Given the description of an element on the screen output the (x, y) to click on. 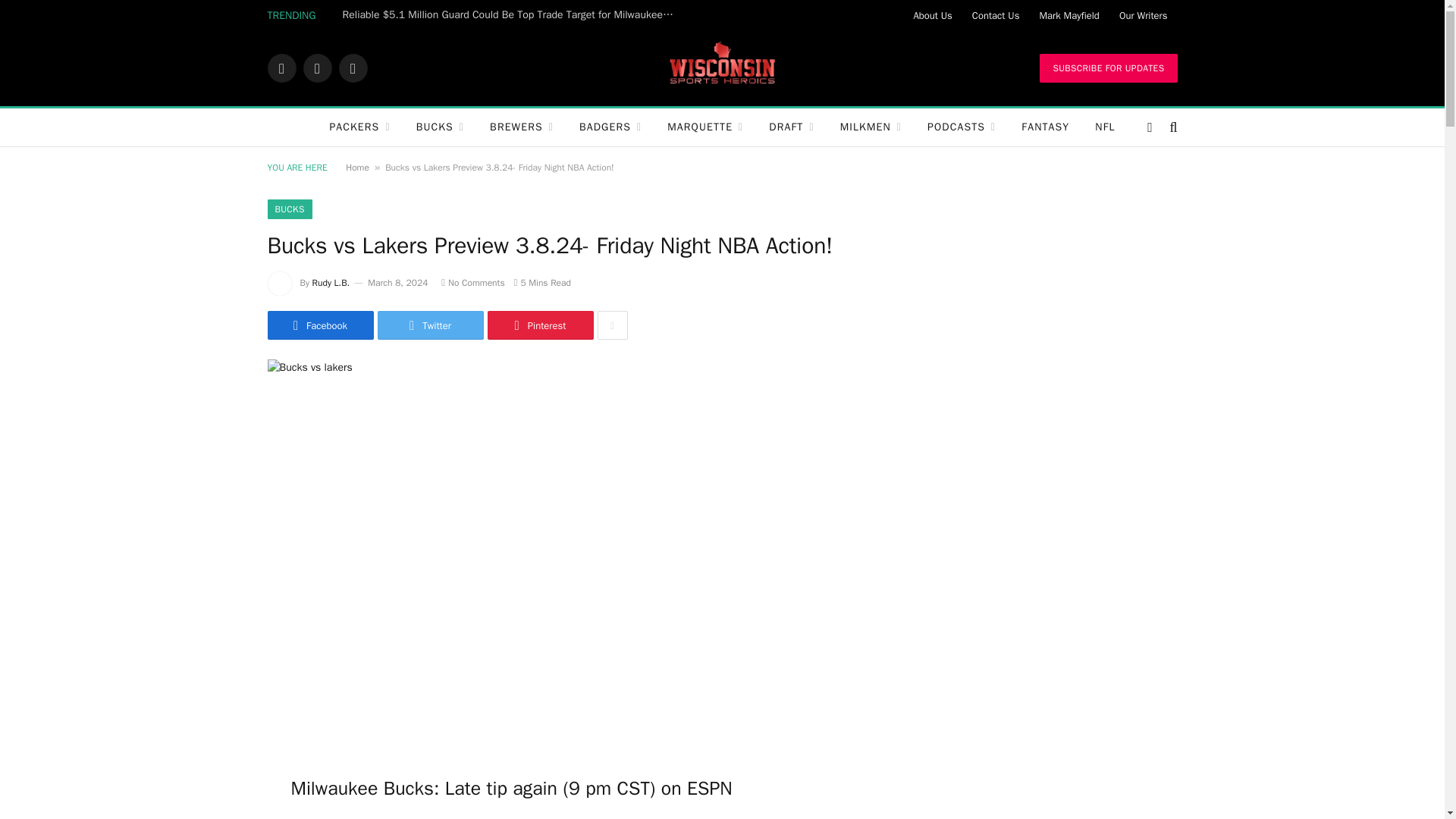
PACKERS (359, 127)
RSS (351, 68)
Contact Us (995, 15)
BREWERS (521, 127)
Our Writers (1143, 15)
Mark Mayfield (1068, 15)
Switch to Dark Design - easier on eyes. (1149, 127)
About Us (931, 15)
SUBSCRIBE FOR UPDATES (1107, 68)
Facebook (280, 68)
